Given the description of an element on the screen output the (x, y) to click on. 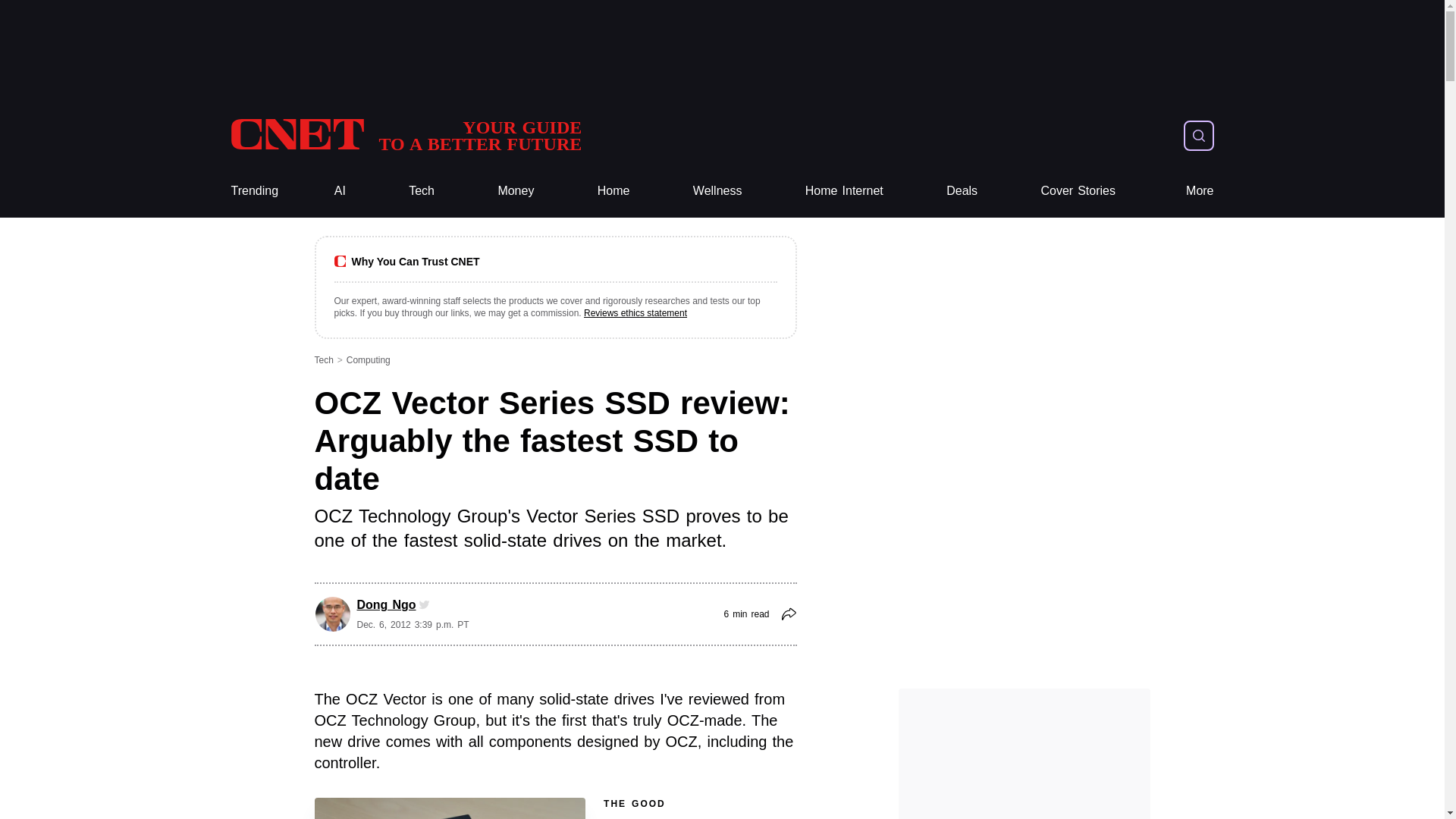
Trending (254, 190)
CNET (405, 135)
Cover Stories (1078, 190)
Tech (421, 190)
Trending (254, 190)
Money (515, 190)
Home Internet (405, 135)
Home (844, 190)
Money (613, 190)
More (515, 190)
Tech (1199, 190)
Wellness (421, 190)
Home (717, 190)
Home Internet (613, 190)
